Given the description of an element on the screen output the (x, y) to click on. 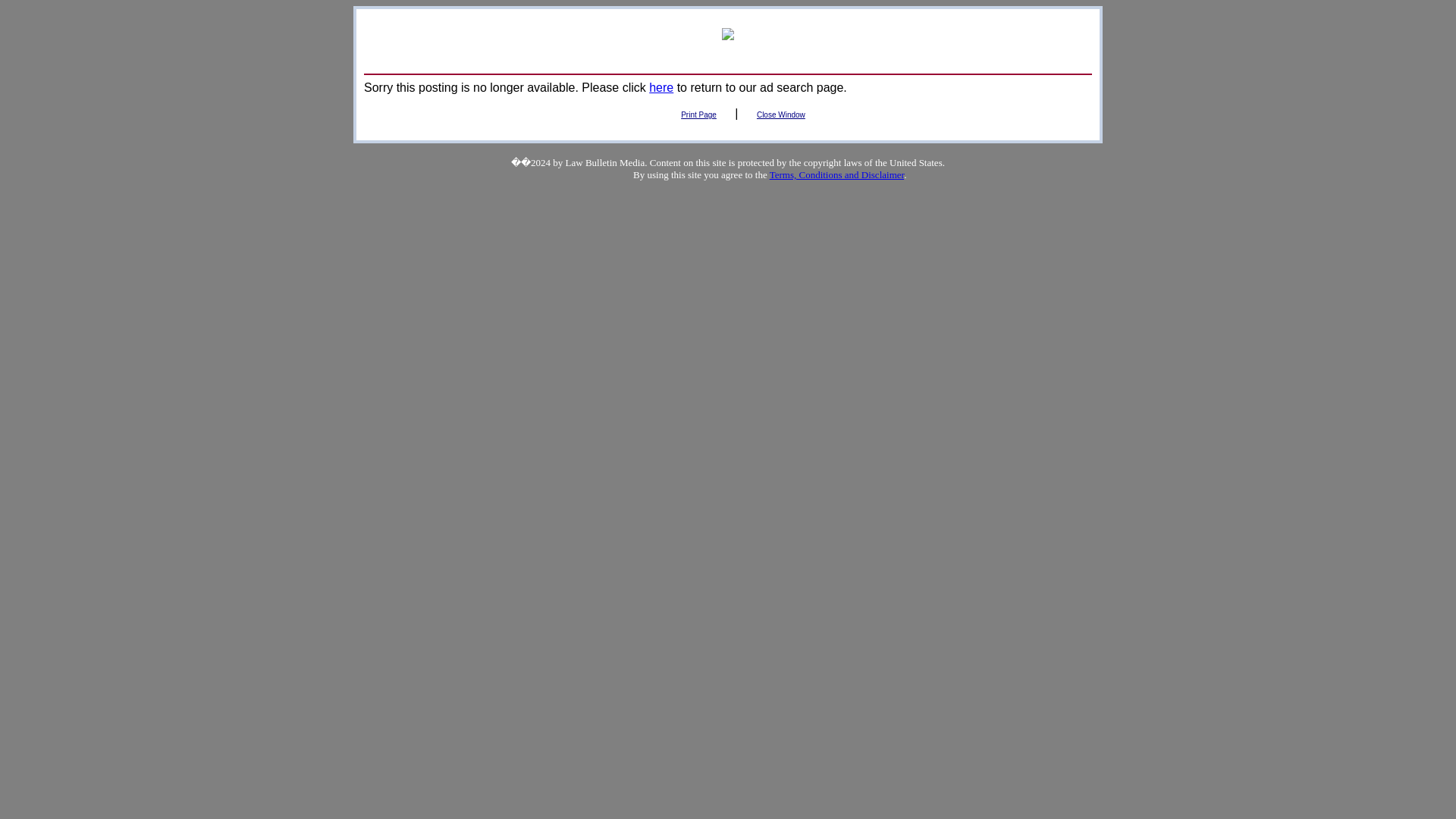
Close Window (781, 114)
Print Page (698, 114)
here (660, 87)
